Given the description of an element on the screen output the (x, y) to click on. 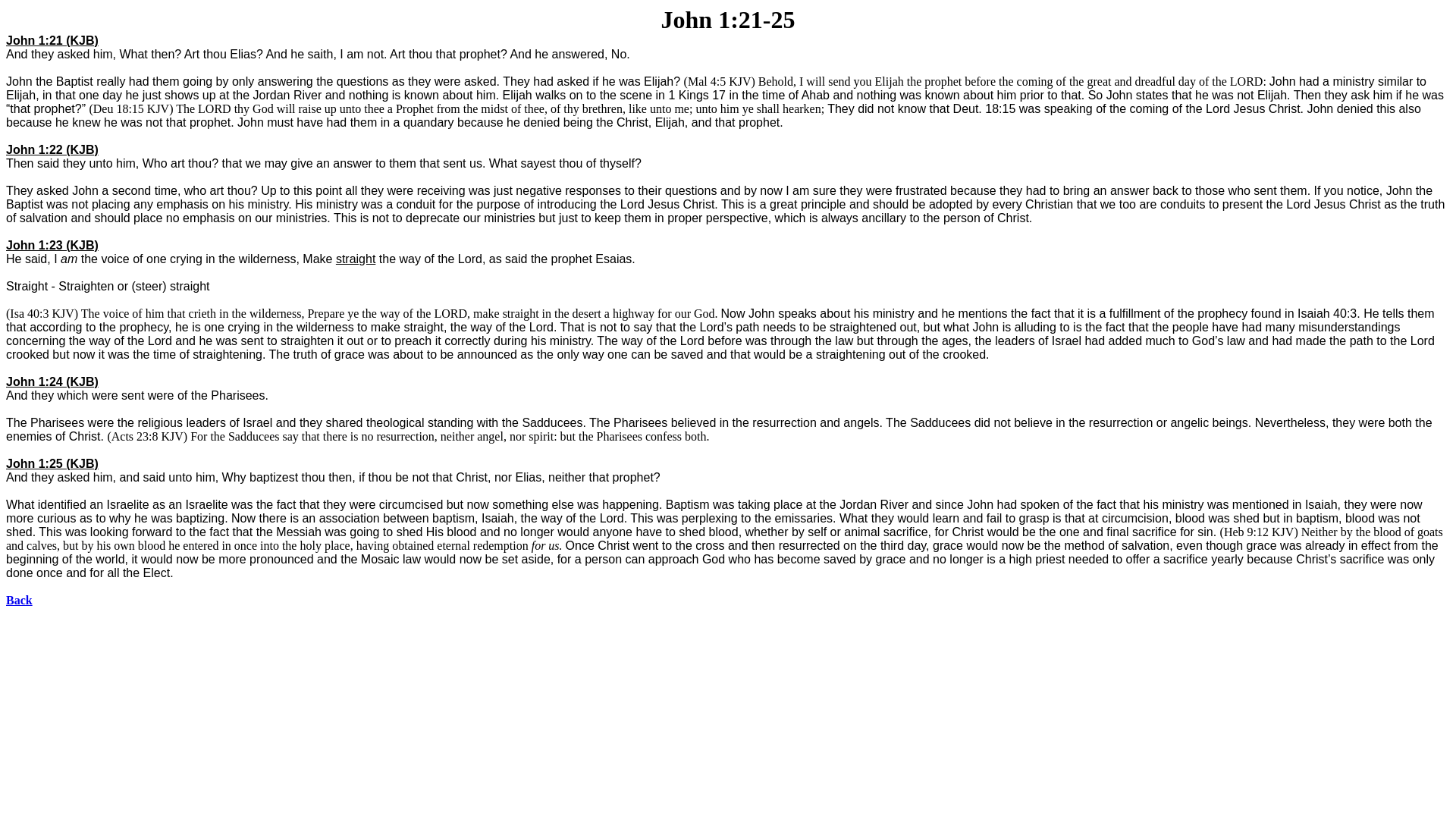
Back (18, 599)
